Given the description of an element on the screen output the (x, y) to click on. 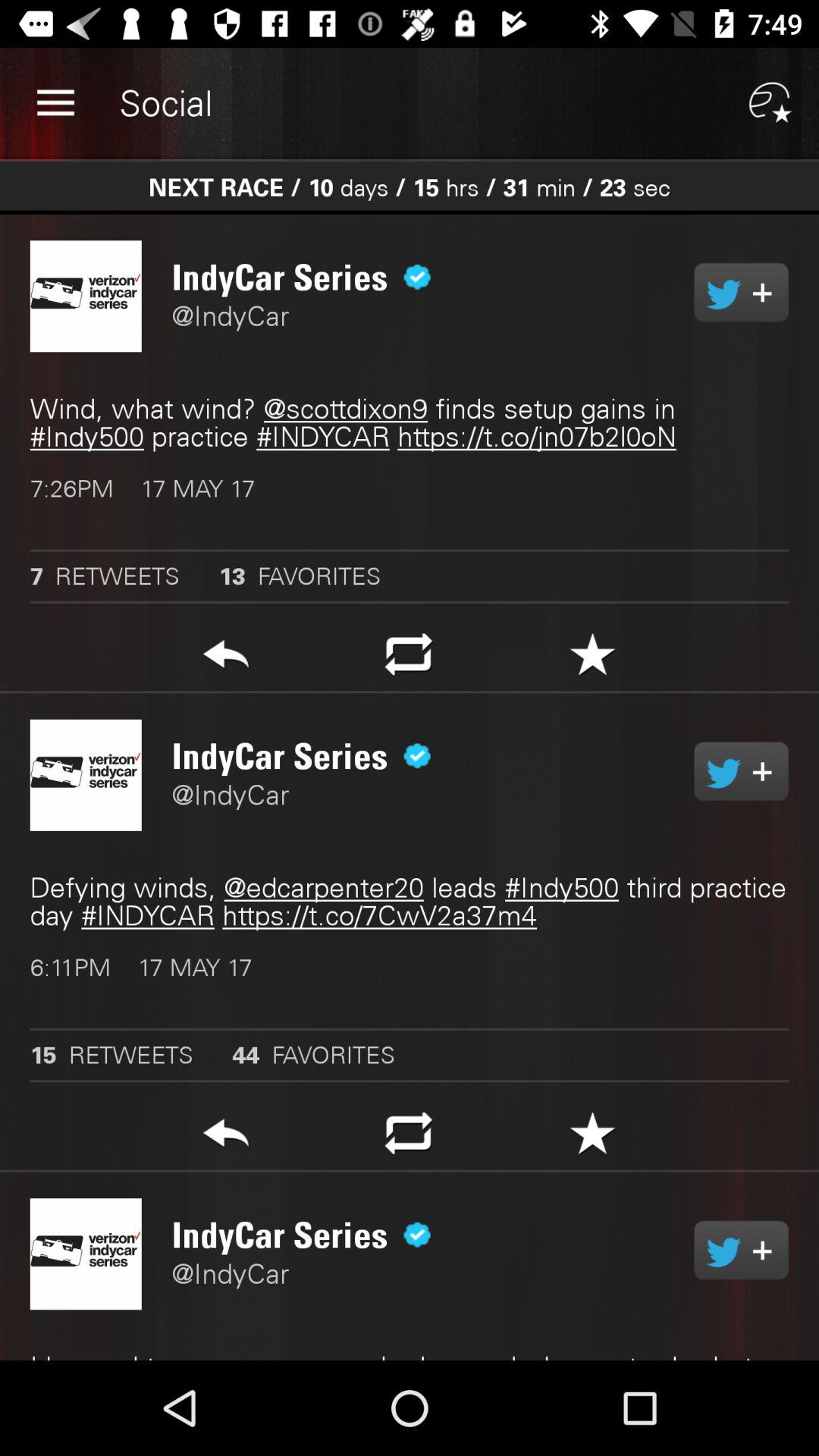
switch autoplay option (740, 770)
